Given the description of an element on the screen output the (x, y) to click on. 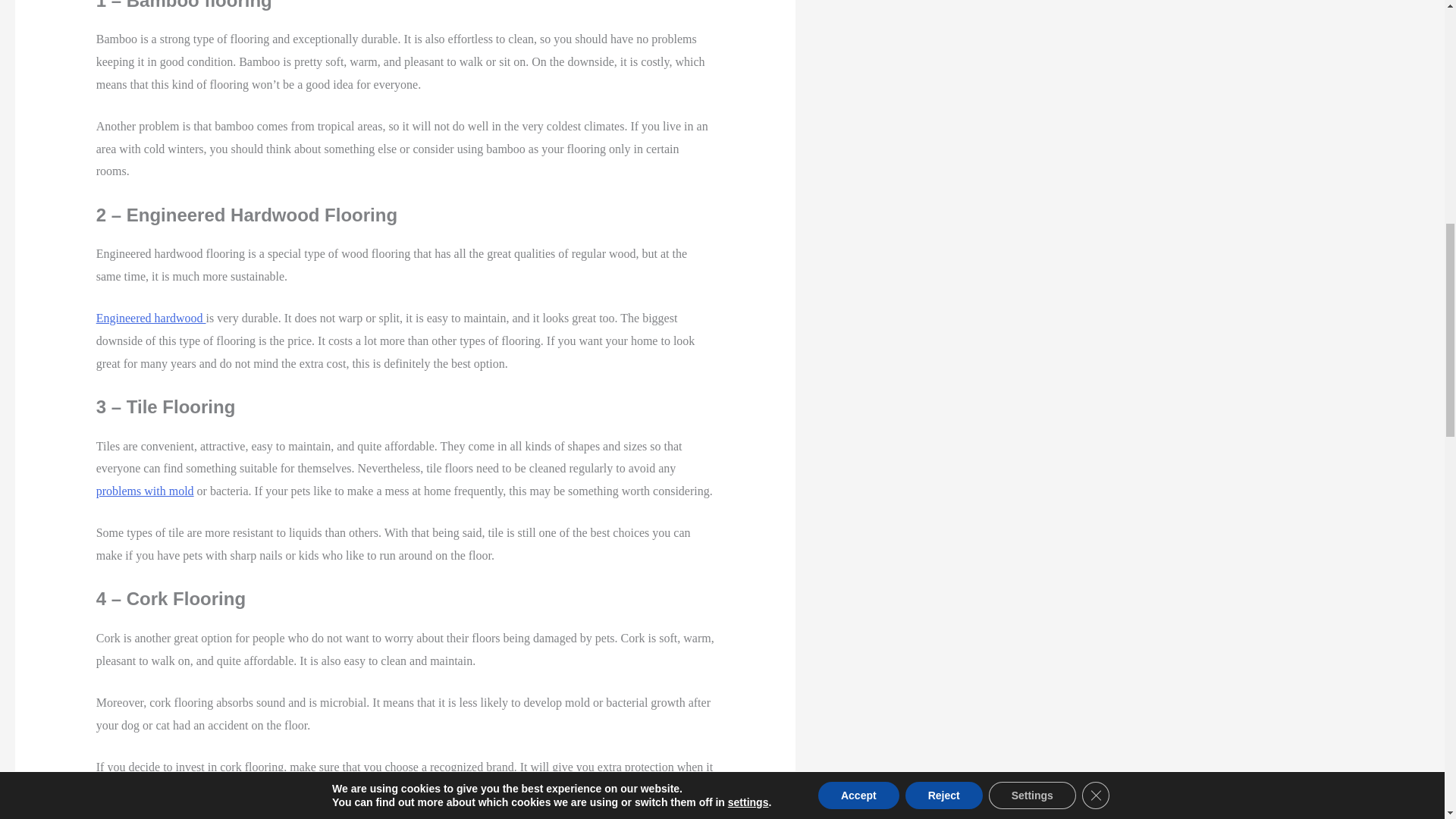
Engineered hardwood (151, 318)
problems with mold (144, 490)
